Given the description of an element on the screen output the (x, y) to click on. 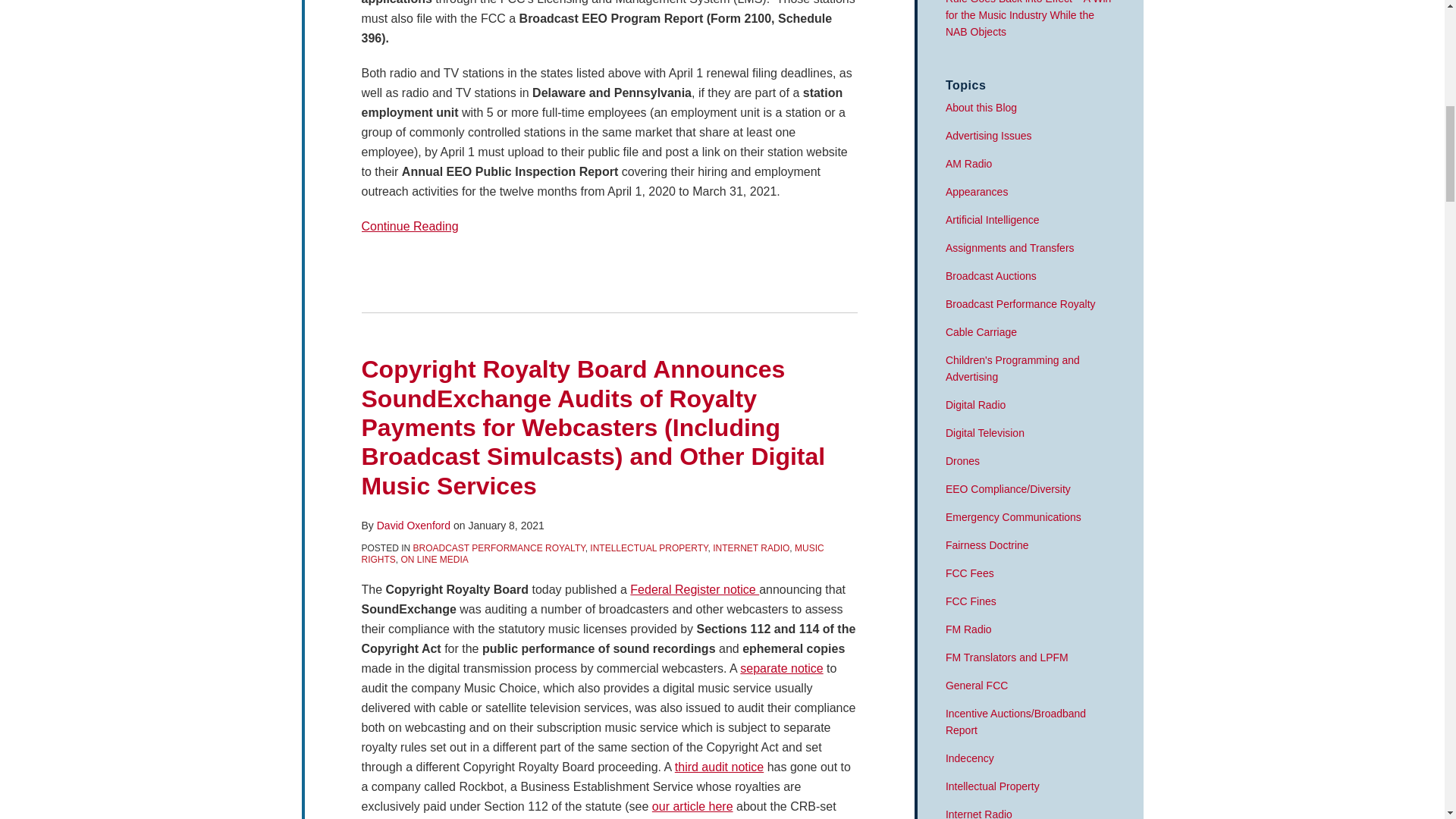
INTERNET RADIO (751, 547)
David Oxenford (413, 525)
INTELLECTUAL PROPERTY (648, 547)
BROADCAST PERFORMANCE ROYALTY (499, 547)
